Given the description of an element on the screen output the (x, y) to click on. 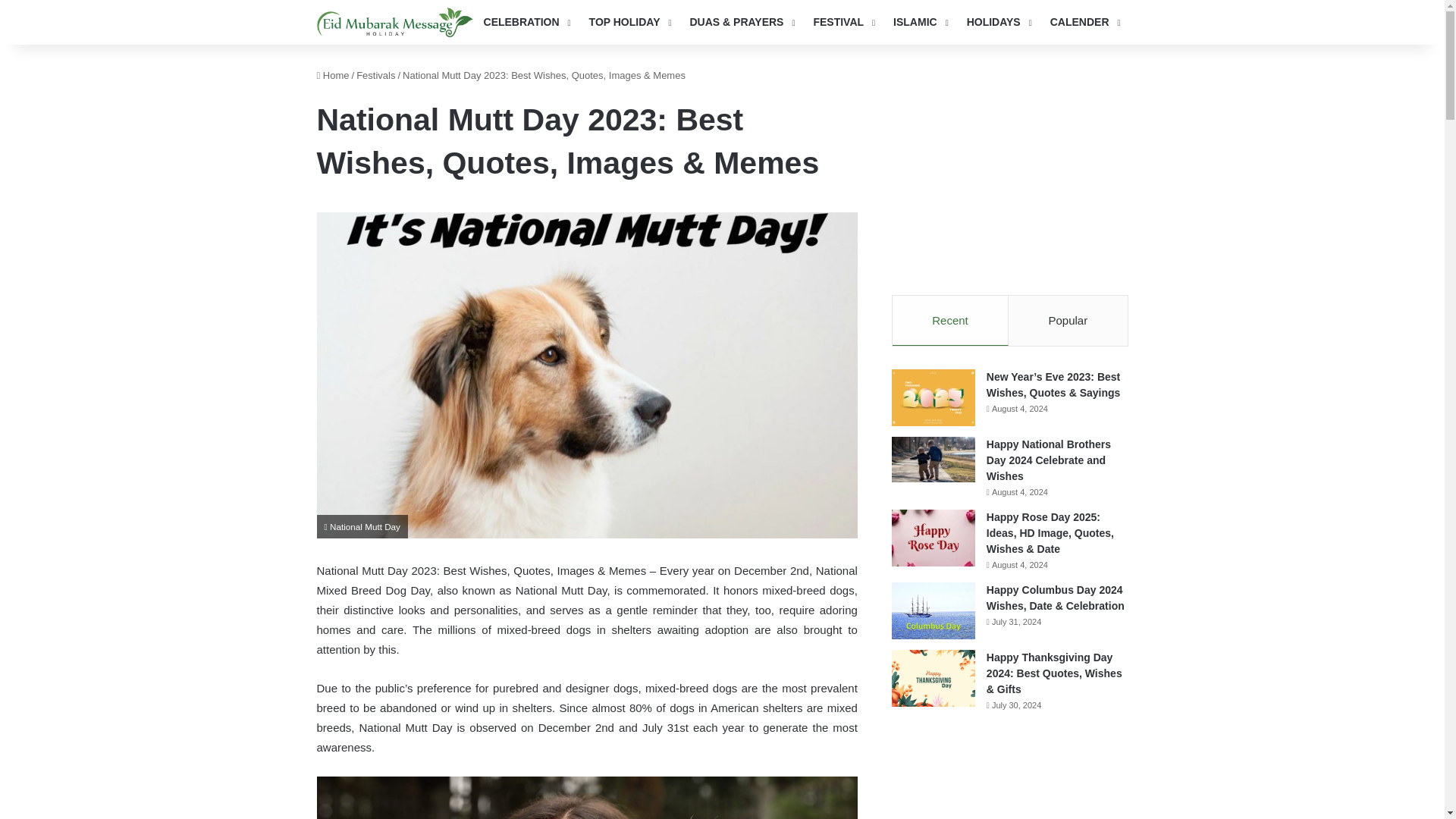
TOP HOLIDAY (628, 22)
HOLIDAYS (997, 22)
Eid Mubarak Message (395, 21)
CELEBRATION (525, 22)
CALENDER (1083, 22)
ISLAMIC (919, 22)
FESTIVAL (842, 22)
